Given the description of an element on the screen output the (x, y) to click on. 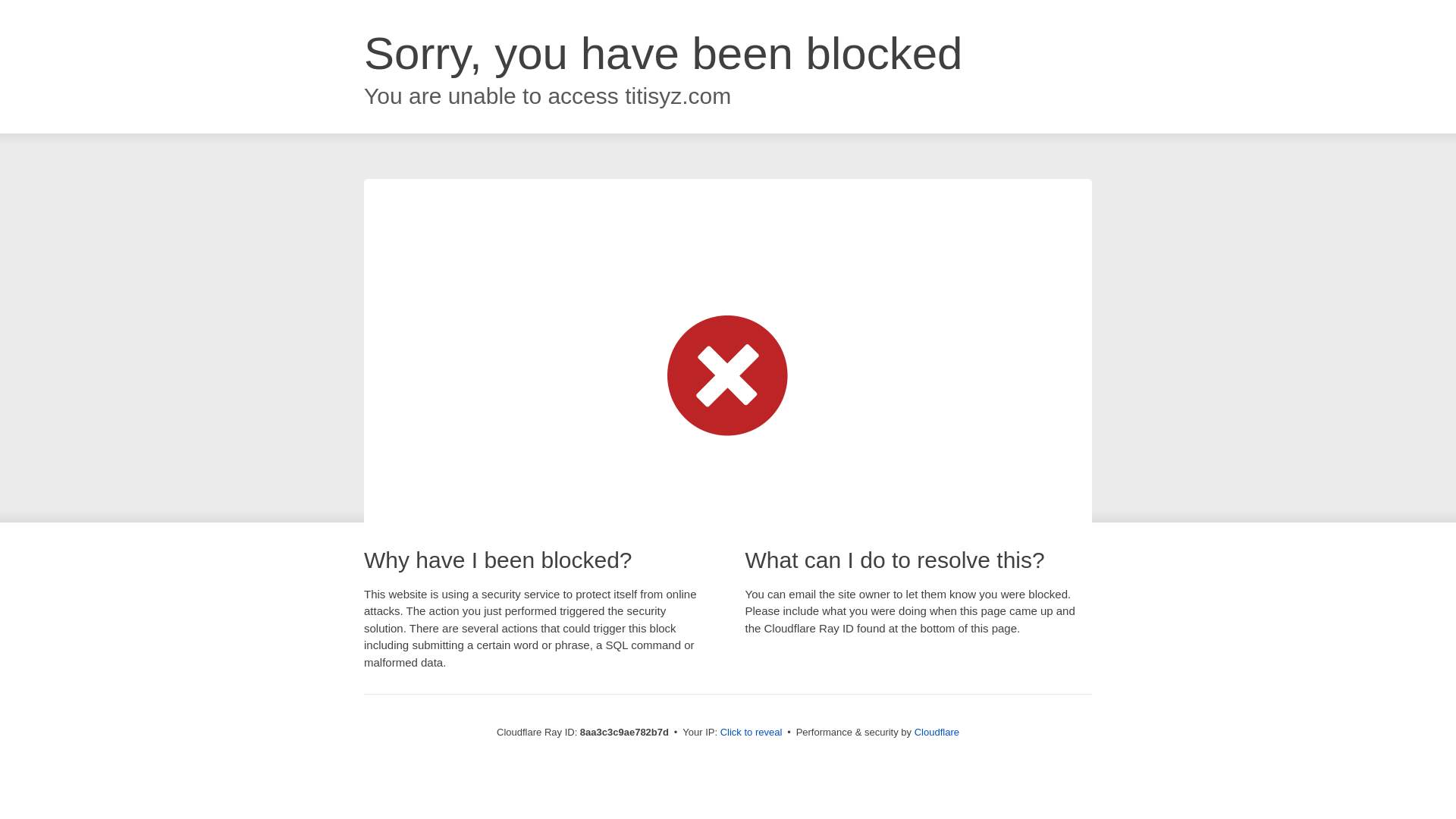
Click to reveal (751, 732)
Cloudflare (936, 731)
